Given the description of an element on the screen output the (x, y) to click on. 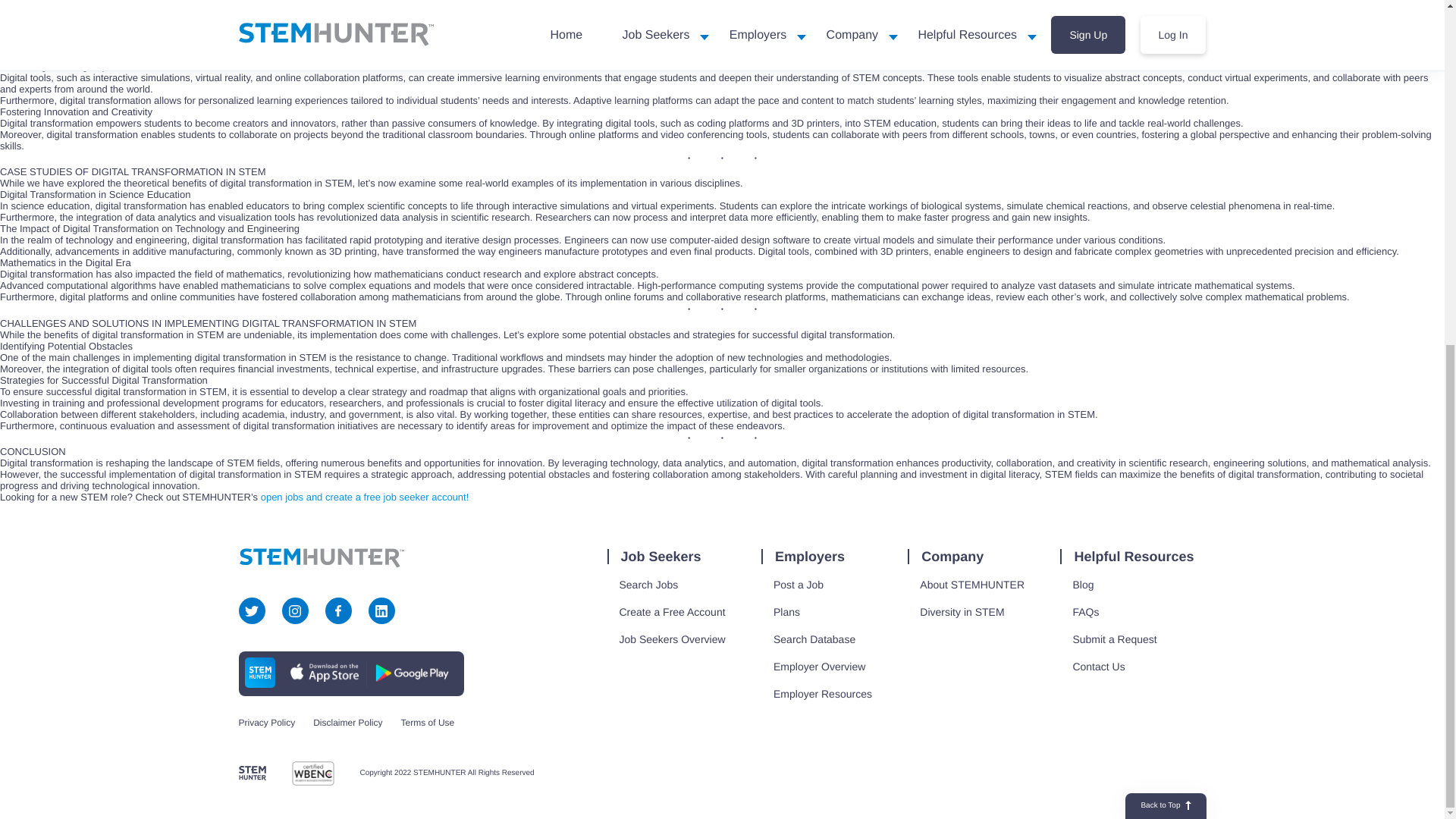
Post a Job (798, 584)
Company (951, 556)
Follow STEMHUNTER on Twitter (251, 611)
Disclaimer Policy (347, 722)
Download the STEMHUNTER App on the Appstore (323, 672)
Employer Resources (822, 693)
Plans (786, 611)
About STEMHUNTER (971, 584)
Employers (809, 556)
Search Database (814, 639)
Terms of Use (427, 722)
Download the STEMHUNTER App on the Play Store (411, 672)
Follow STEMHUNTER on LinkedIn (381, 611)
Job Seekers (660, 556)
open jobs and create a free job seeker account! (364, 496)
